Given the description of an element on the screen output the (x, y) to click on. 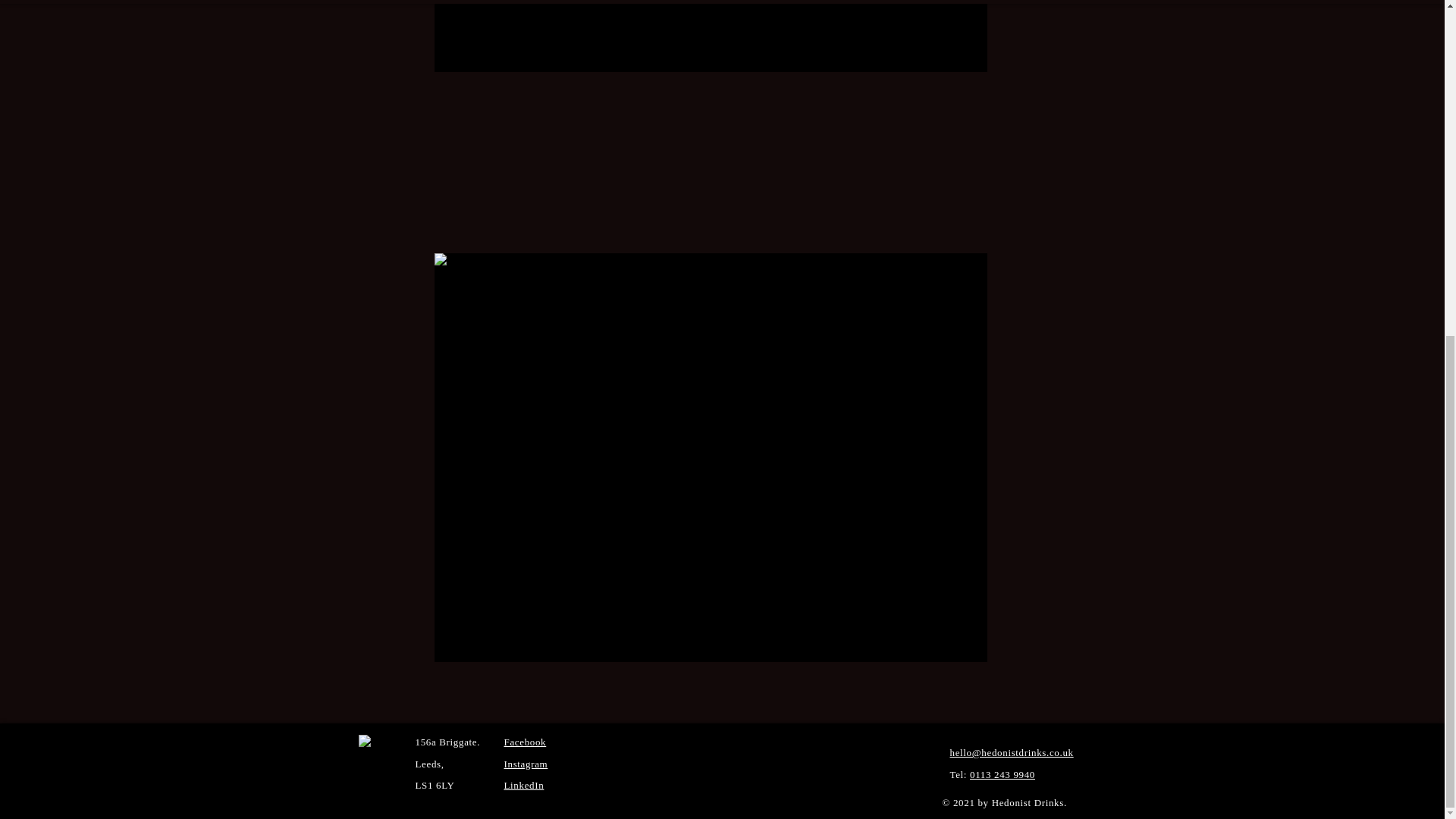
LinkedIn (523, 785)
0113 243 9940 (1002, 774)
Instagram (525, 763)
Facebook (524, 741)
